Given the description of an element on the screen output the (x, y) to click on. 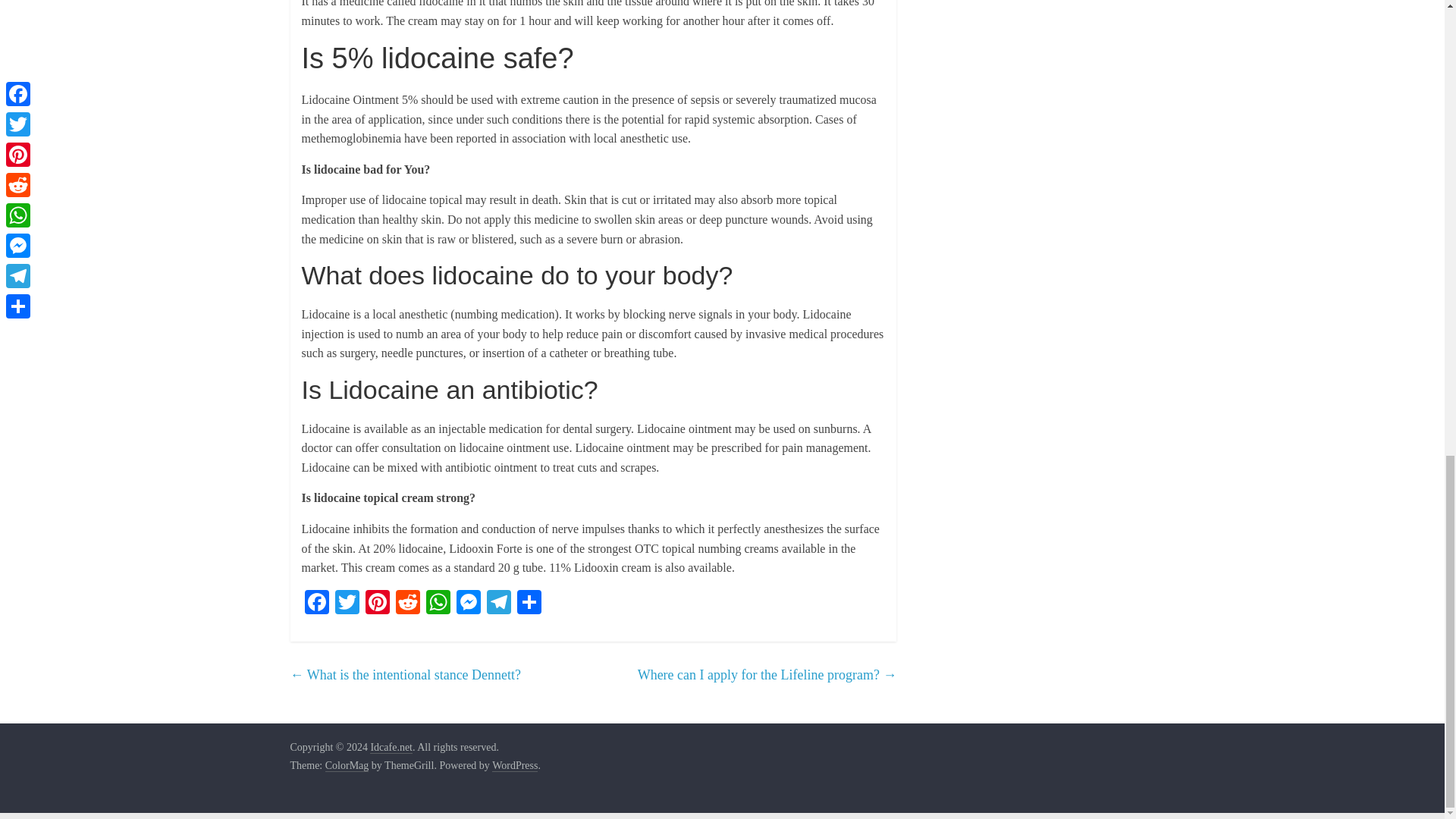
Facebook (316, 603)
Pinterest (377, 603)
Telegram (498, 603)
WhatsApp (437, 603)
Reddit (408, 603)
Messenger (467, 603)
Twitter (346, 603)
Telegram (498, 603)
WhatsApp (437, 603)
Twitter (346, 603)
